Given the description of an element on the screen output the (x, y) to click on. 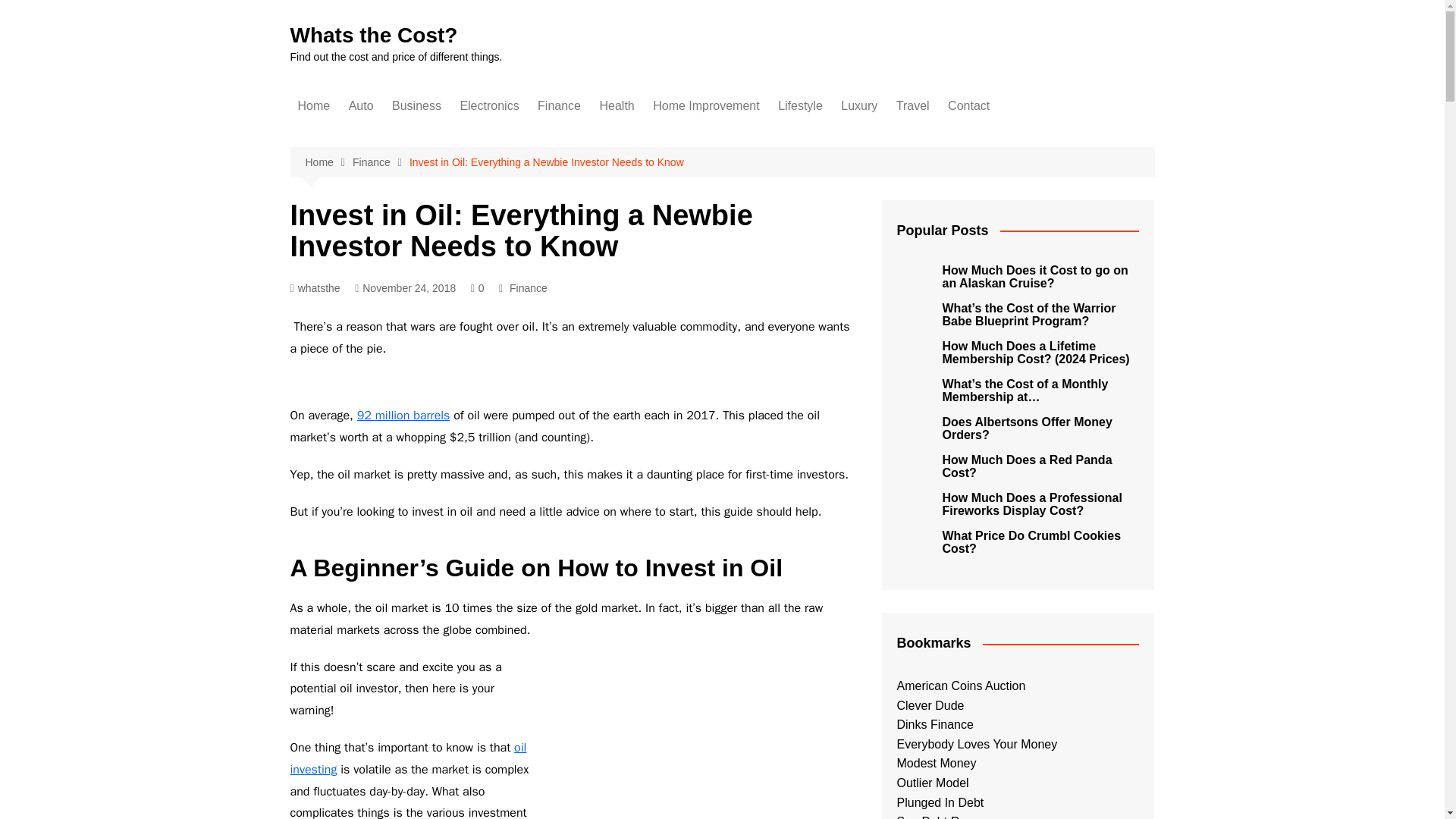
92 million barrels (402, 415)
Auto (360, 105)
Finance (380, 162)
Travel (912, 105)
Finance (528, 288)
oil investing (407, 758)
November 24, 2018 (405, 288)
Whats the Cost? (373, 34)
Lifestyle (799, 105)
Business (416, 105)
Health (616, 105)
Contact (968, 105)
Electronics (488, 105)
Home (313, 105)
Home (328, 162)
